Given the description of an element on the screen output the (x, y) to click on. 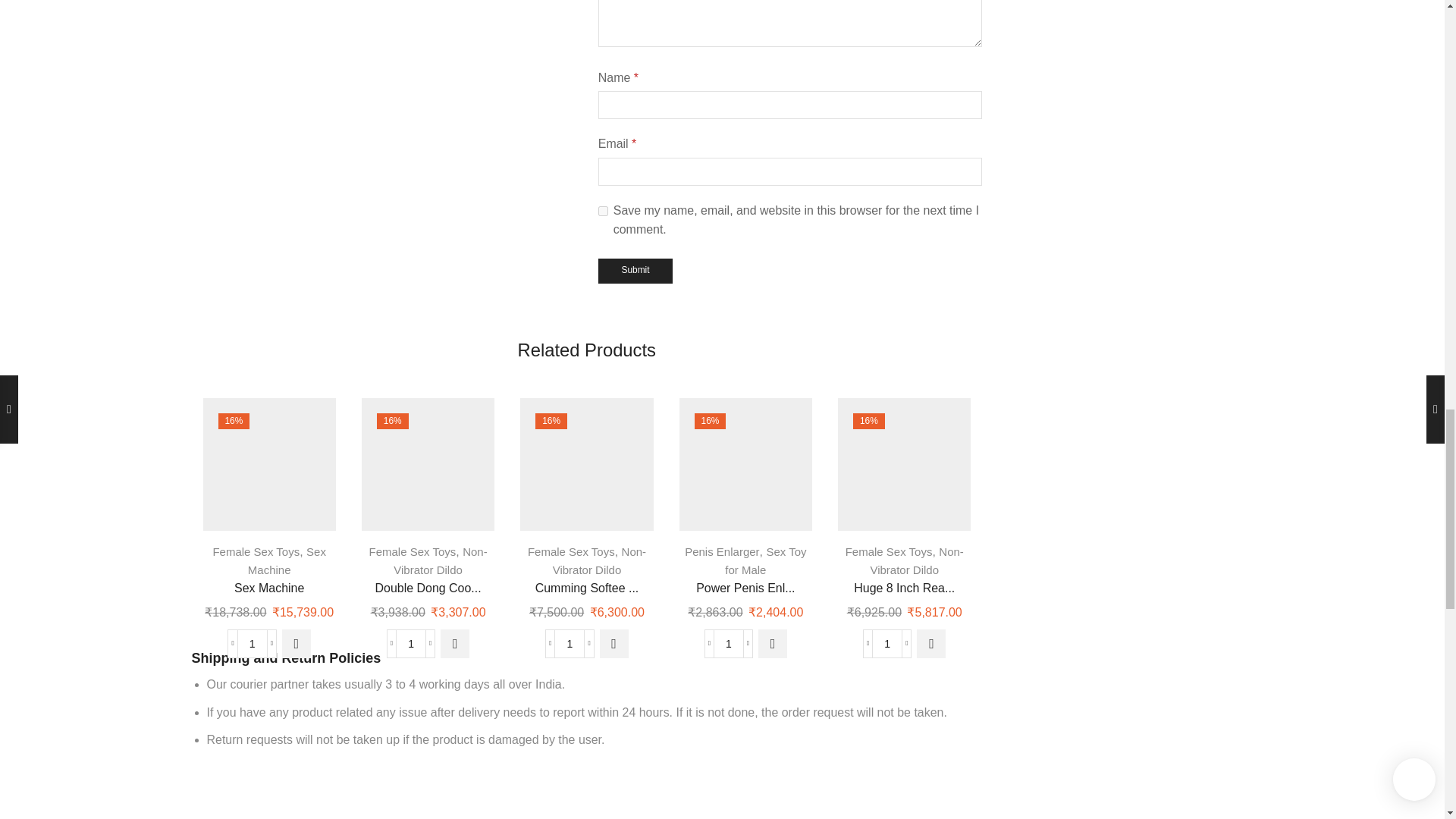
1 (410, 643)
1 (886, 643)
Submit (635, 270)
1 (728, 643)
yes (603, 211)
1 (252, 643)
1 (568, 643)
